Given the description of an element on the screen output the (x, y) to click on. 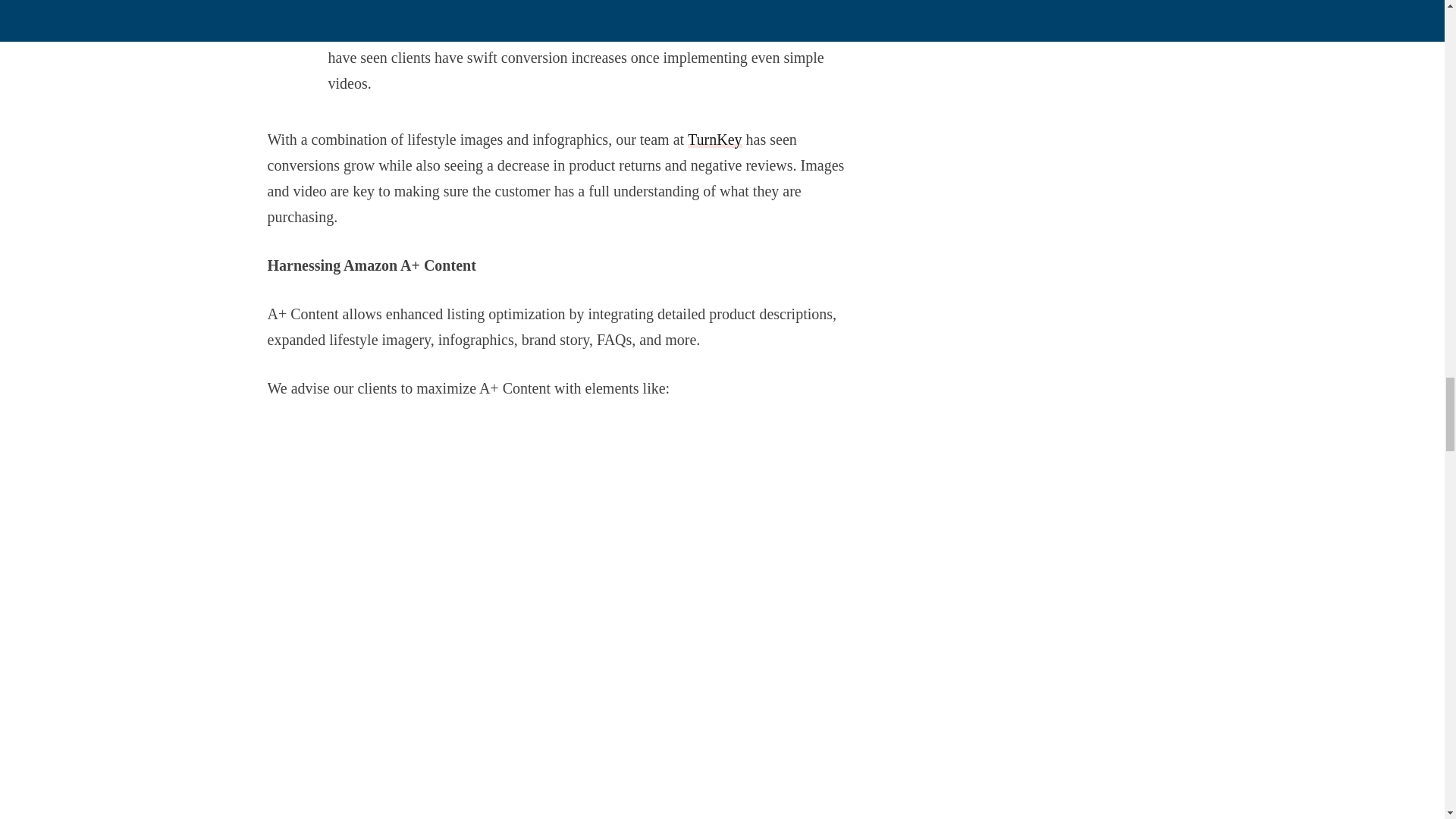
TurnKey (714, 139)
